Given the description of an element on the screen output the (x, y) to click on. 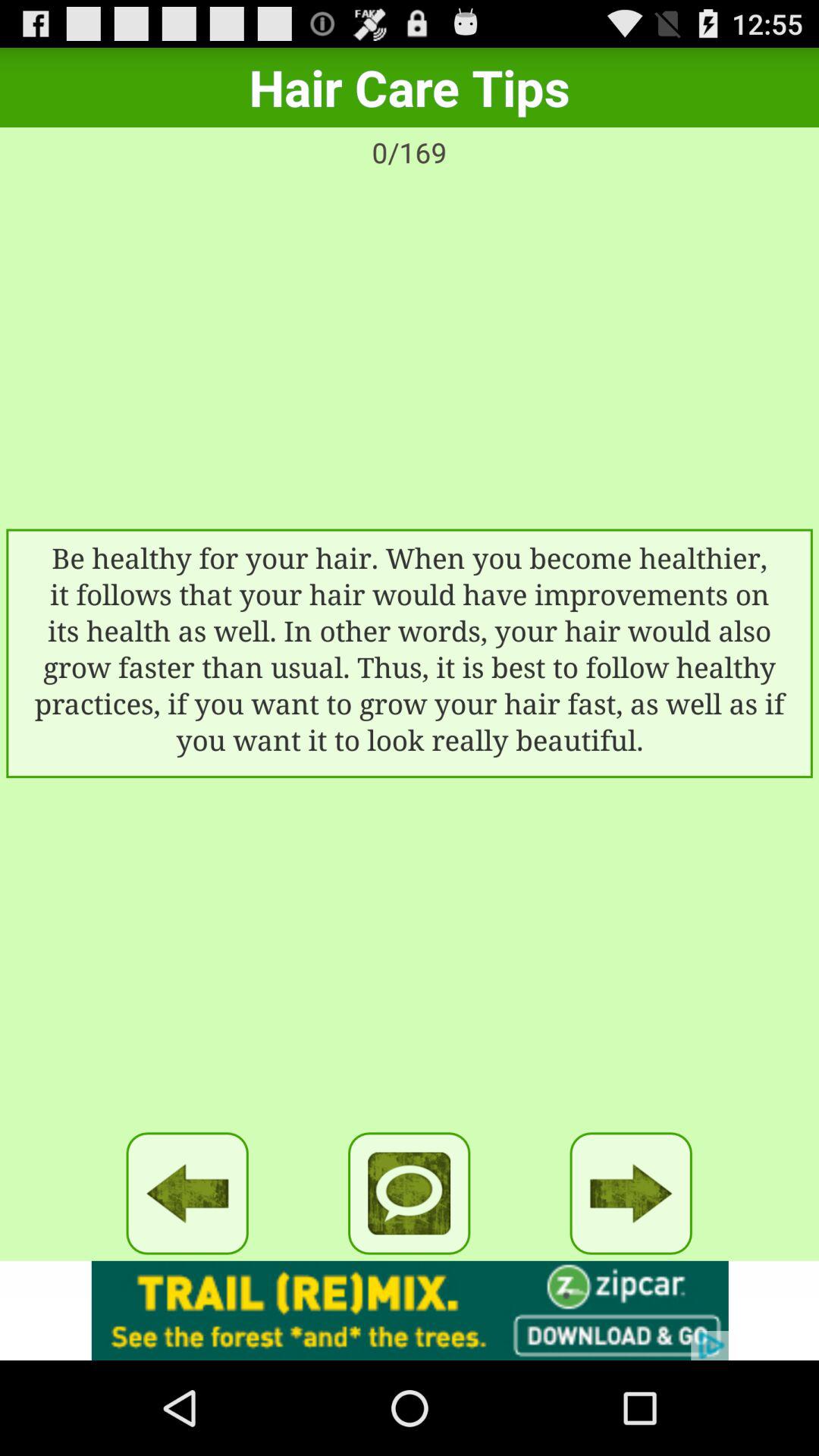
go back (187, 1193)
